Given the description of an element on the screen output the (x, y) to click on. 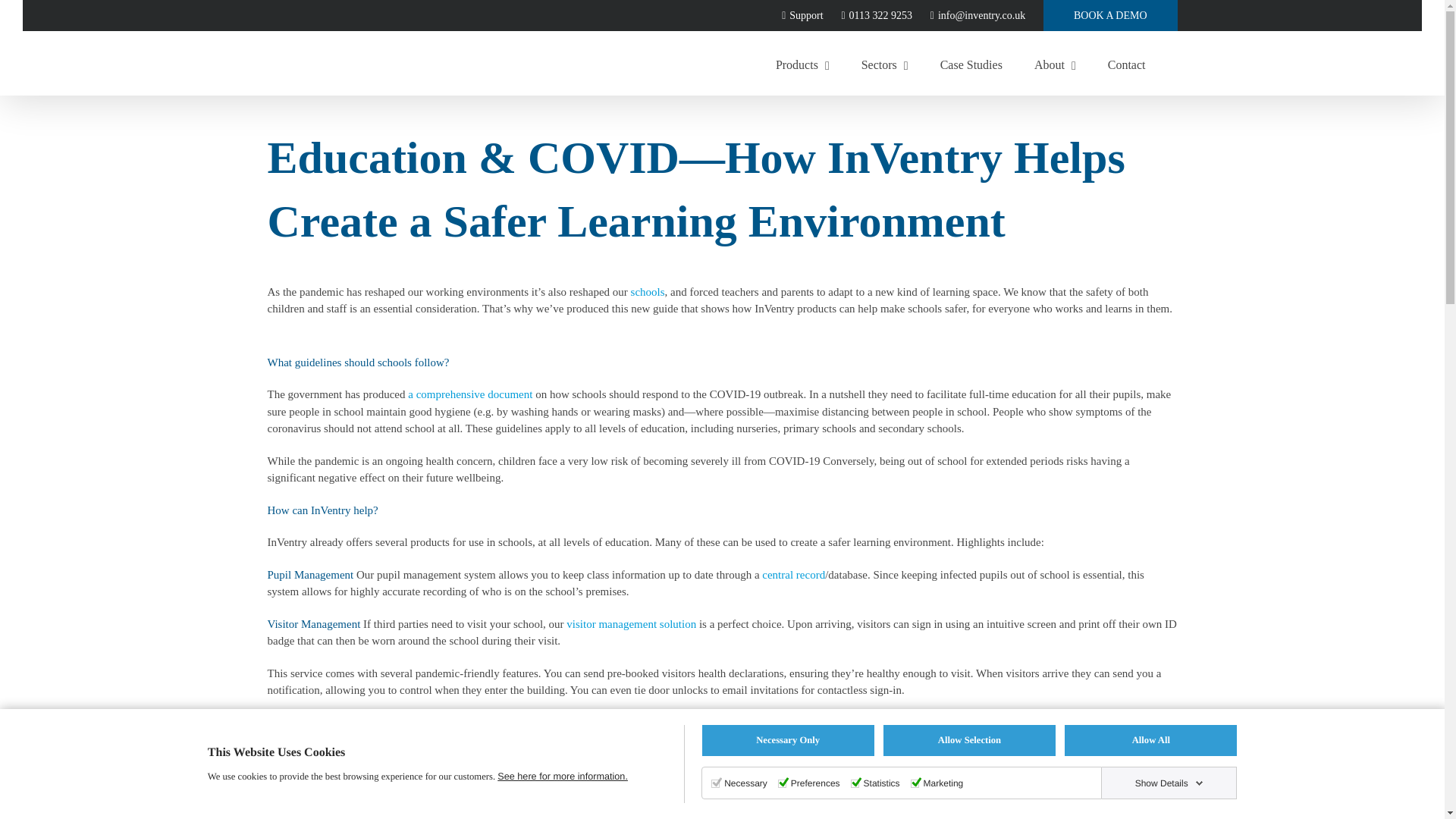
Show Details (1169, 783)
See here for more information. (562, 776)
Allow Selection (969, 739)
Necessary Only (788, 739)
Allow All (1150, 739)
